Given the description of an element on the screen output the (x, y) to click on. 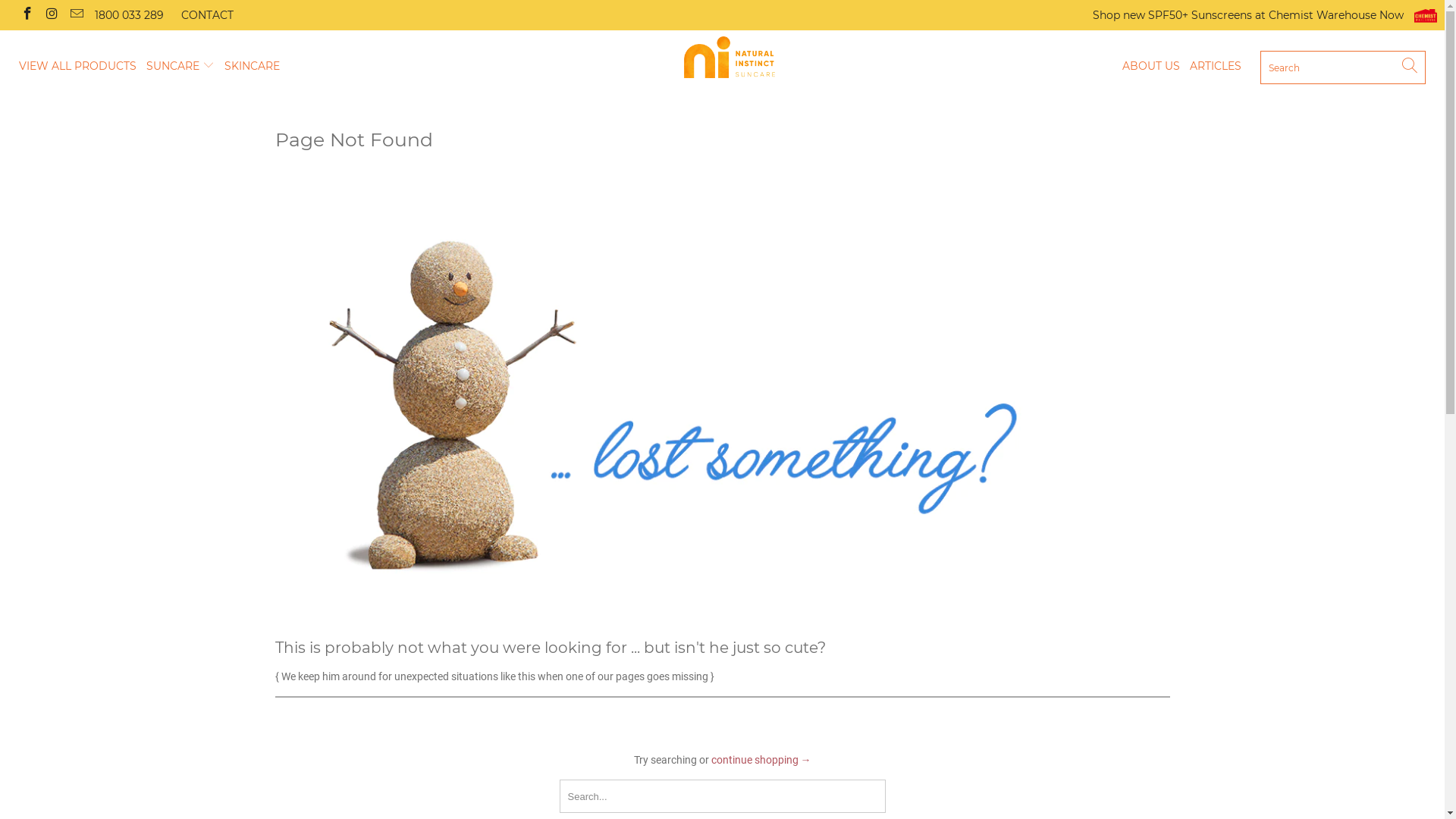
ABOUT US Element type: text (1150, 66)
Natural Instinct Suncare on Facebook Element type: hover (26, 15)
Natural Instinct Suncare Element type: hover (729, 57)
Email Natural Instinct Suncare Element type: hover (75, 15)
ARTICLES Element type: text (1215, 66)
Natural Instinct Suncare on Instagram Element type: hover (51, 15)
SKINCARE Element type: text (251, 66)
Shop new SPF50+ Sunscreens at Chemist Warehouse Now Element type: text (1264, 15)
VIEW ALL PRODUCTS Element type: text (77, 66)
CONTACT Element type: text (207, 15)
SUNCARE Element type: text (180, 66)
1800 033 289 Element type: text (128, 15)
